Given the description of an element on the screen output the (x, y) to click on. 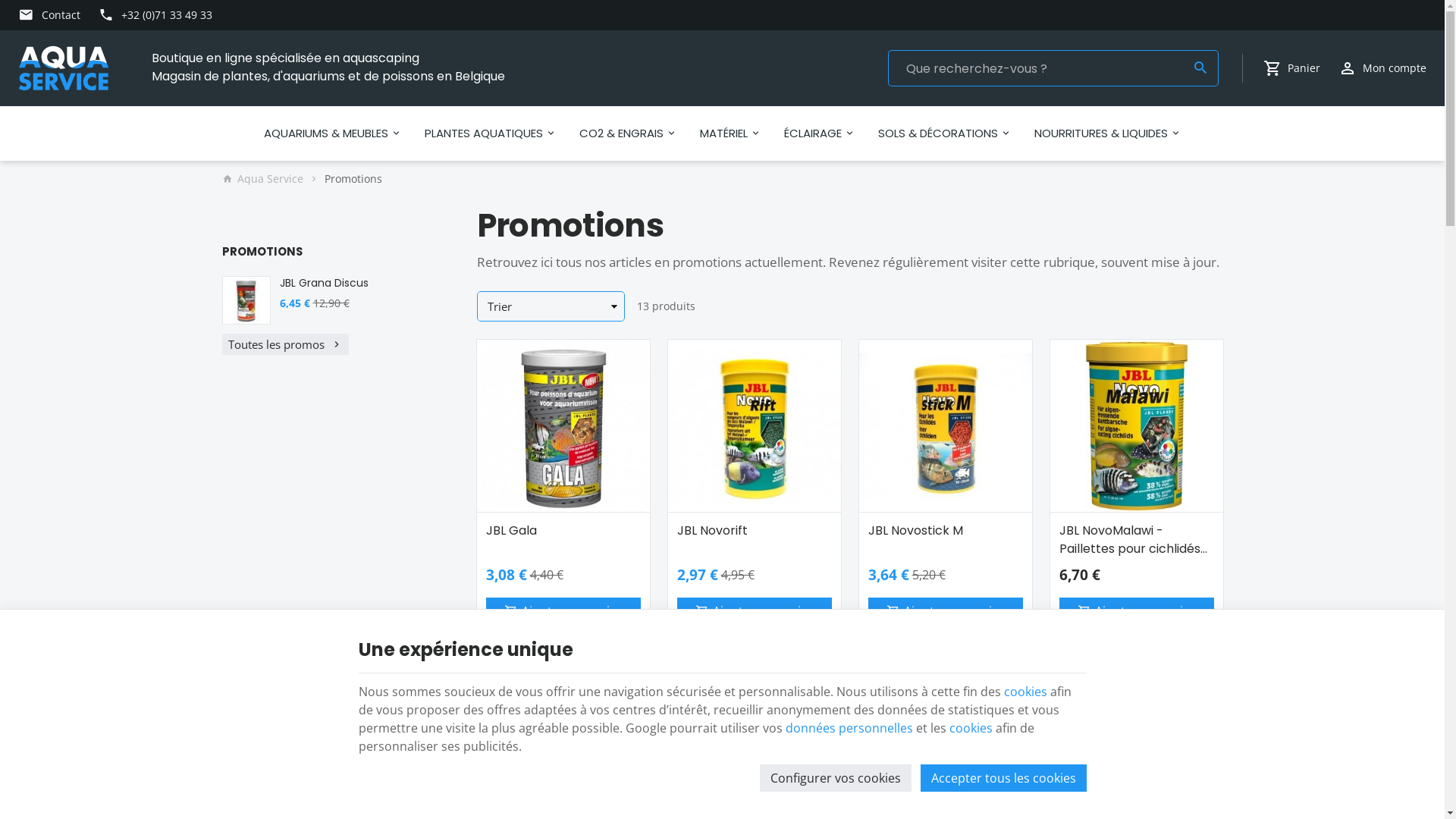
JBL Grana Discus Element type: text (354, 282)
JBL Novostick M Element type: text (944, 530)
NOURRITURES & LIQUIDES Element type: text (1107, 133)
Mon compte Element type: text (1382, 68)
cookies Element type: text (1025, 691)
Ajouter au panier Element type: text (753, 610)
Ajouter au panier Element type: text (1135, 610)
CO2 & ENGRAIS Element type: text (627, 133)
Aqua Service Element type: hover (63, 68)
Panier Element type: text (1291, 68)
JBL Novorift Element type: text (753, 530)
AQUARIUMS & MEUBLES Element type: text (331, 133)
JBL Gala Element type: text (562, 530)
JBL Grana Discus Element type: hover (245, 299)
JBL Novostick M  Element type: hover (944, 425)
Ajouter au panier Element type: text (562, 610)
Accepter tous les cookies Element type: text (1003, 777)
PLANTES AQUATIQUES Element type: text (489, 133)
PROMOTIONS Element type: text (261, 251)
JBL Gala Element type: hover (562, 425)
Aqua Service Element type: hover (63, 68)
+32 (0)71 33 49 33 Element type: text (155, 15)
Toutes les promos Element type: text (284, 343)
cookies Element type: text (970, 727)
Ajouter au panier Element type: text (944, 610)
JBL Novorift  Element type: hover (753, 425)
Contact Element type: text (49, 15)
Configurer vos cookies Element type: text (835, 777)
Aqua Service Element type: text (262, 178)
